Given the description of an element on the screen output the (x, y) to click on. 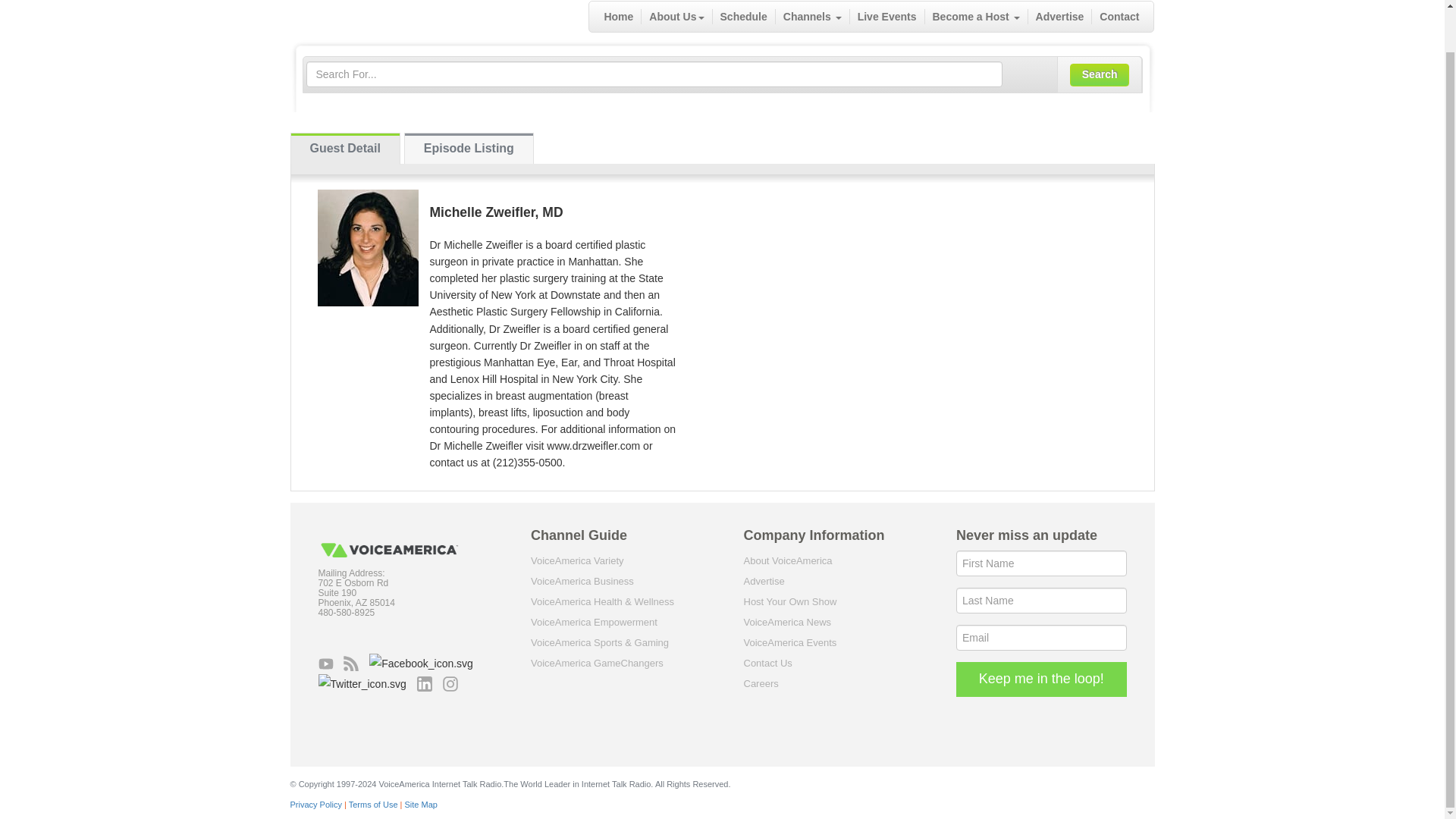
Search (1099, 74)
VoiceAmerica Business (582, 581)
VoiceAmerica Events (788, 642)
About Us (676, 16)
Schedule (744, 16)
VoiceAmerica GameChangers (597, 663)
Become a Host (975, 16)
guest-index (344, 148)
Episode Listing (468, 148)
Host Your Own Show (788, 601)
